Given the description of an element on the screen output the (x, y) to click on. 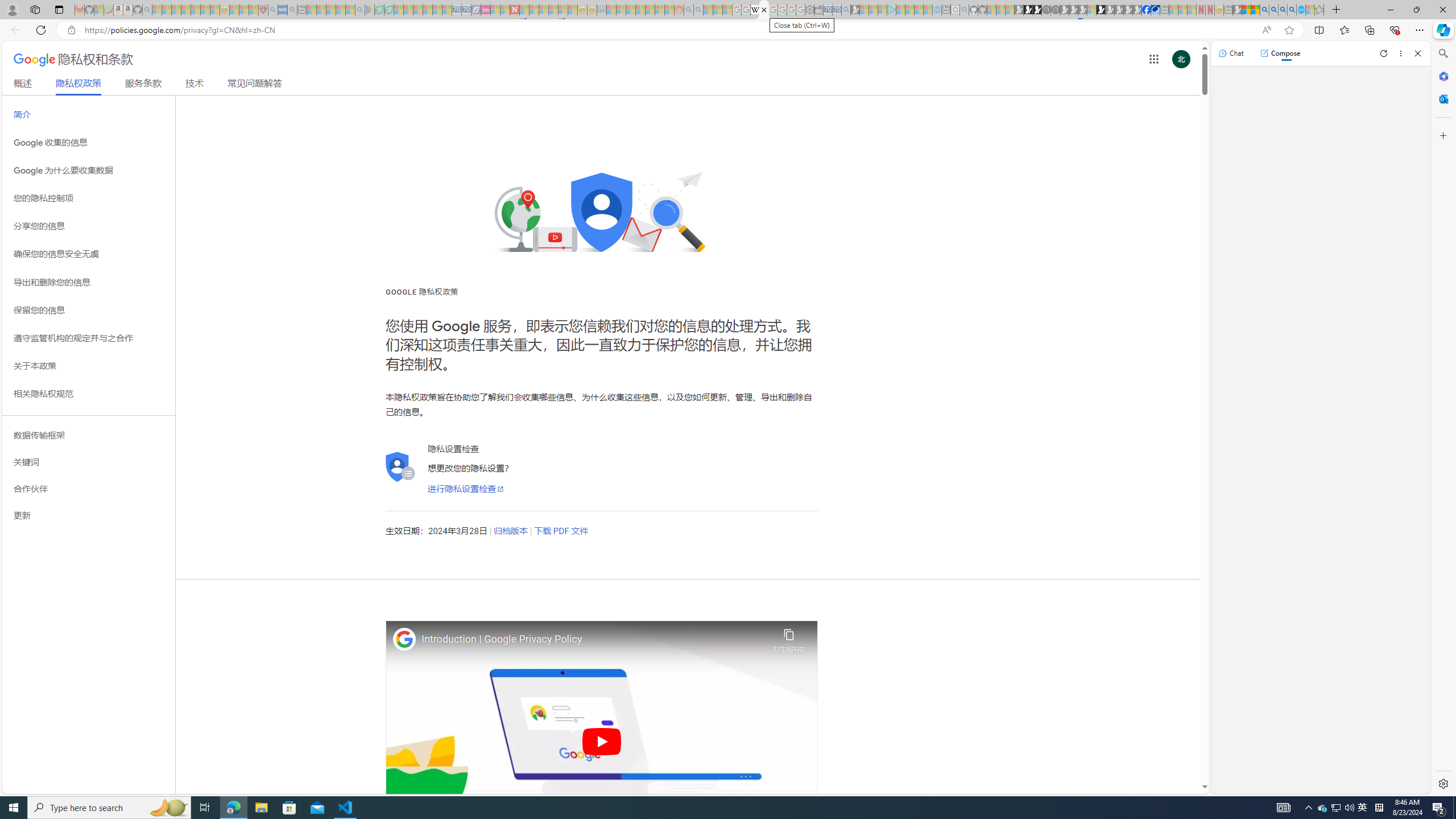
DITOGAMES AG Imprint - Sleeping (601, 9)
Terms of Use Agreement - Sleeping (378, 9)
